Given the description of an element on the screen output the (x, y) to click on. 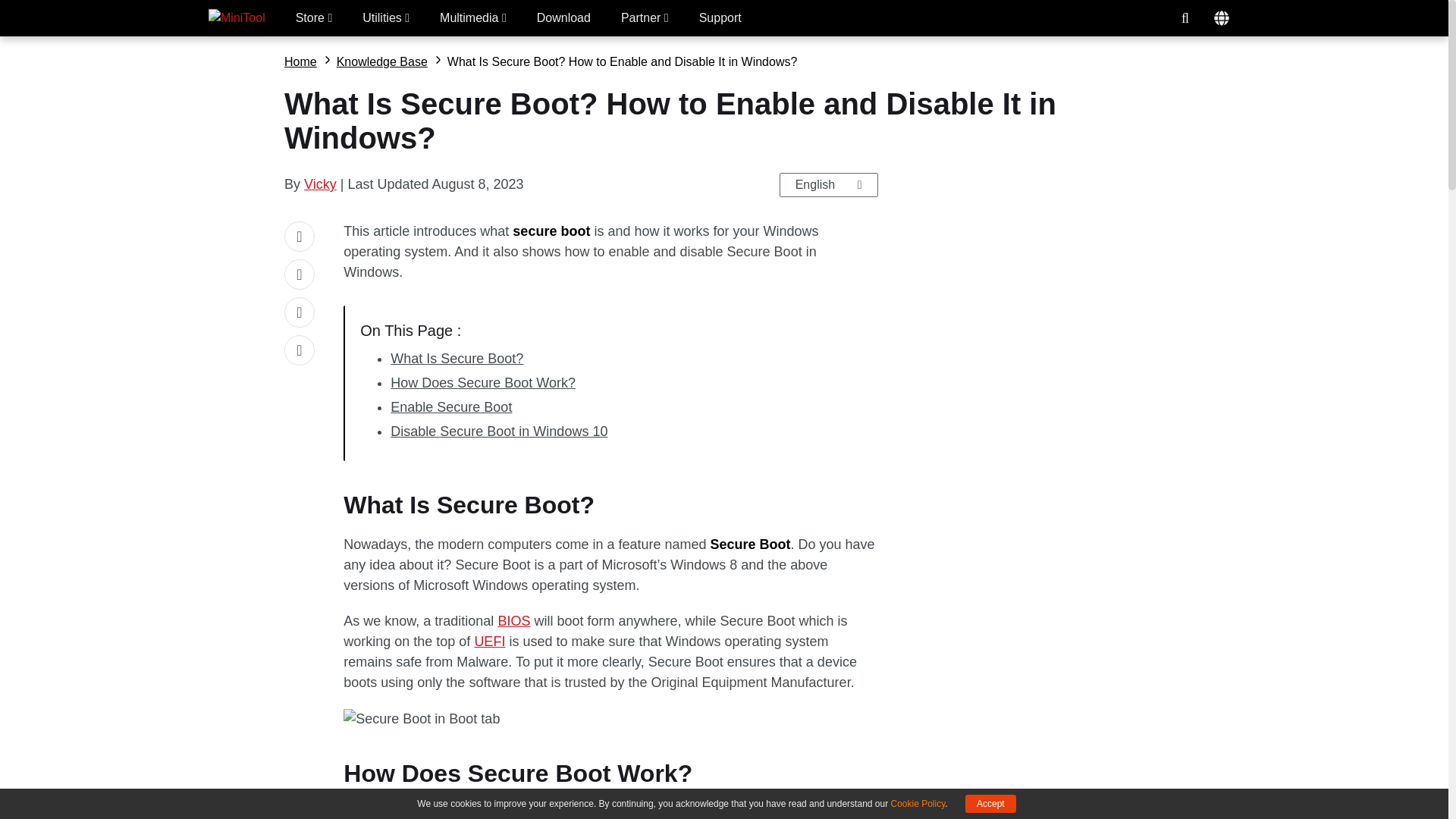
MiniTool Home (236, 17)
Utilities (385, 18)
Store (314, 18)
